Given the description of an element on the screen output the (x, y) to click on. 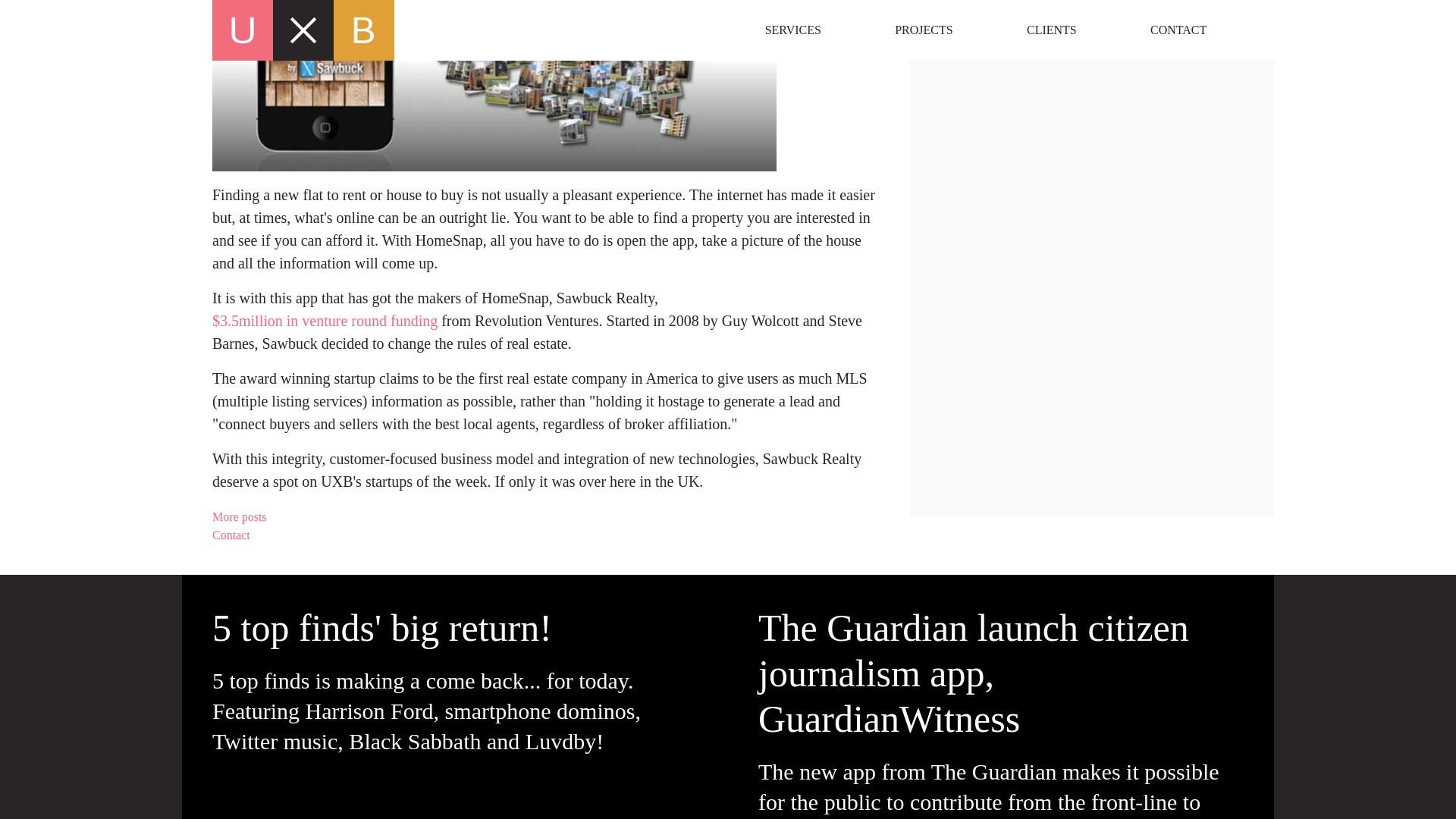
Contact (545, 535)
More posts (545, 516)
